Given the description of an element on the screen output the (x, y) to click on. 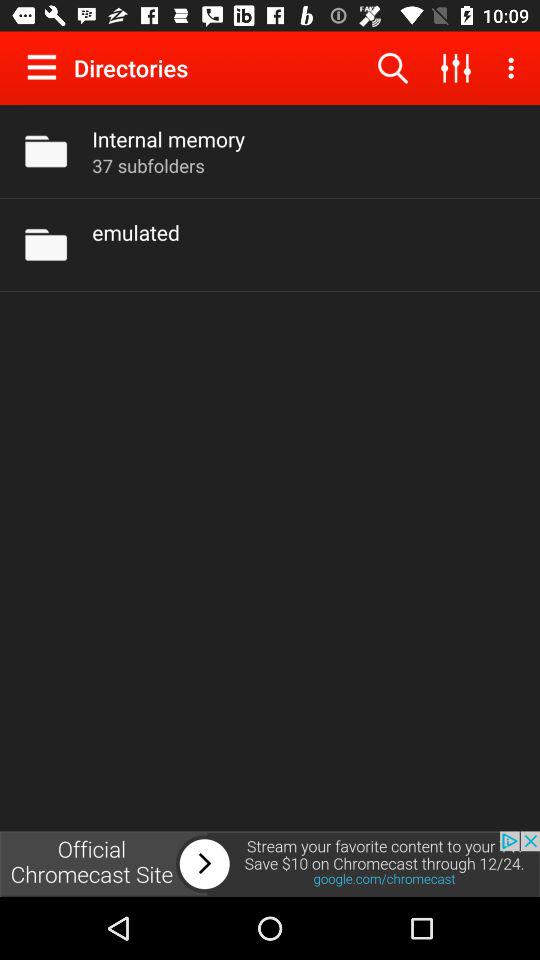
open menu option (46, 67)
